Given the description of an element on the screen output the (x, y) to click on. 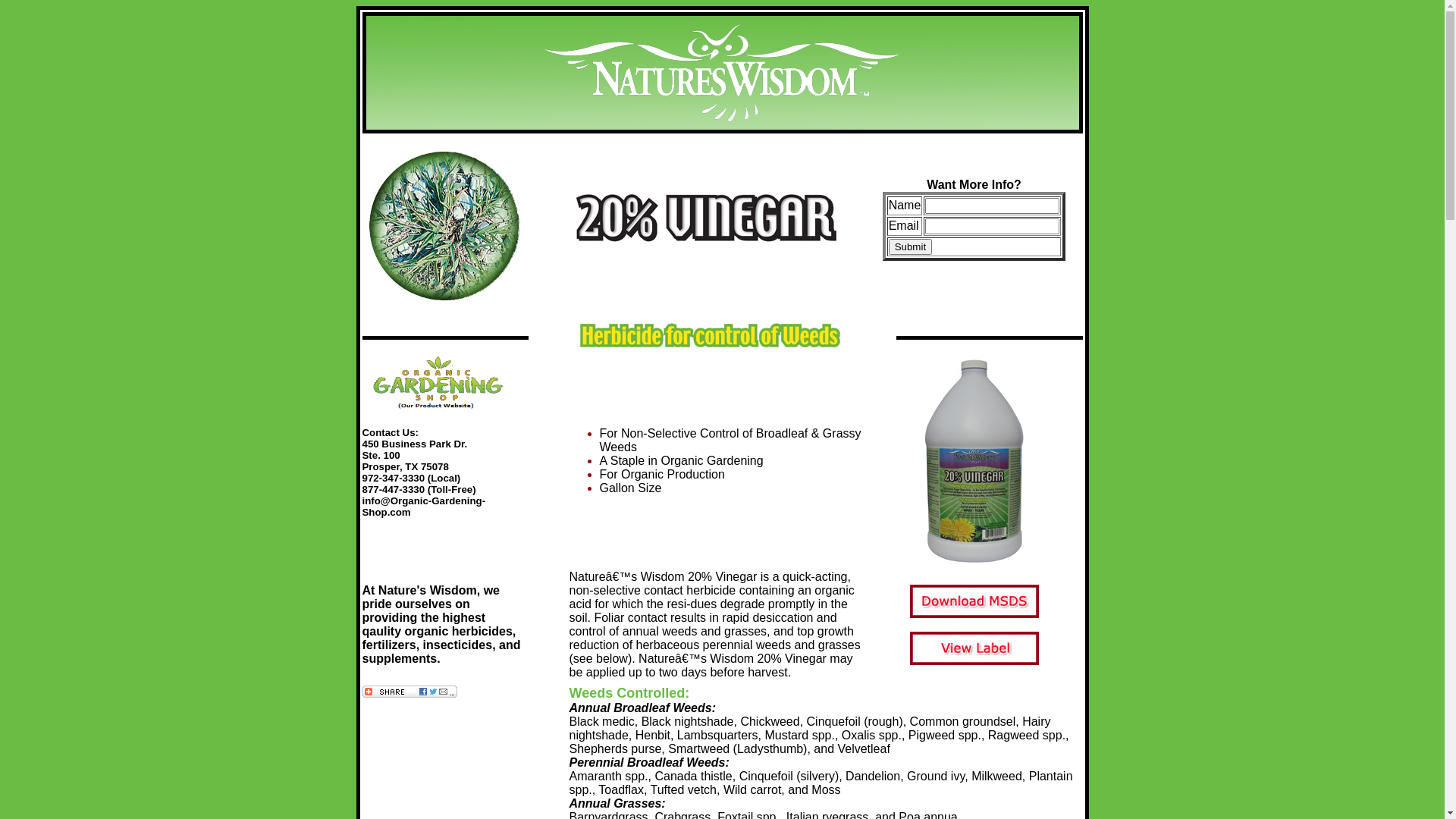
Submit Element type: text (909, 246)
